Given the description of an element on the screen output the (x, y) to click on. 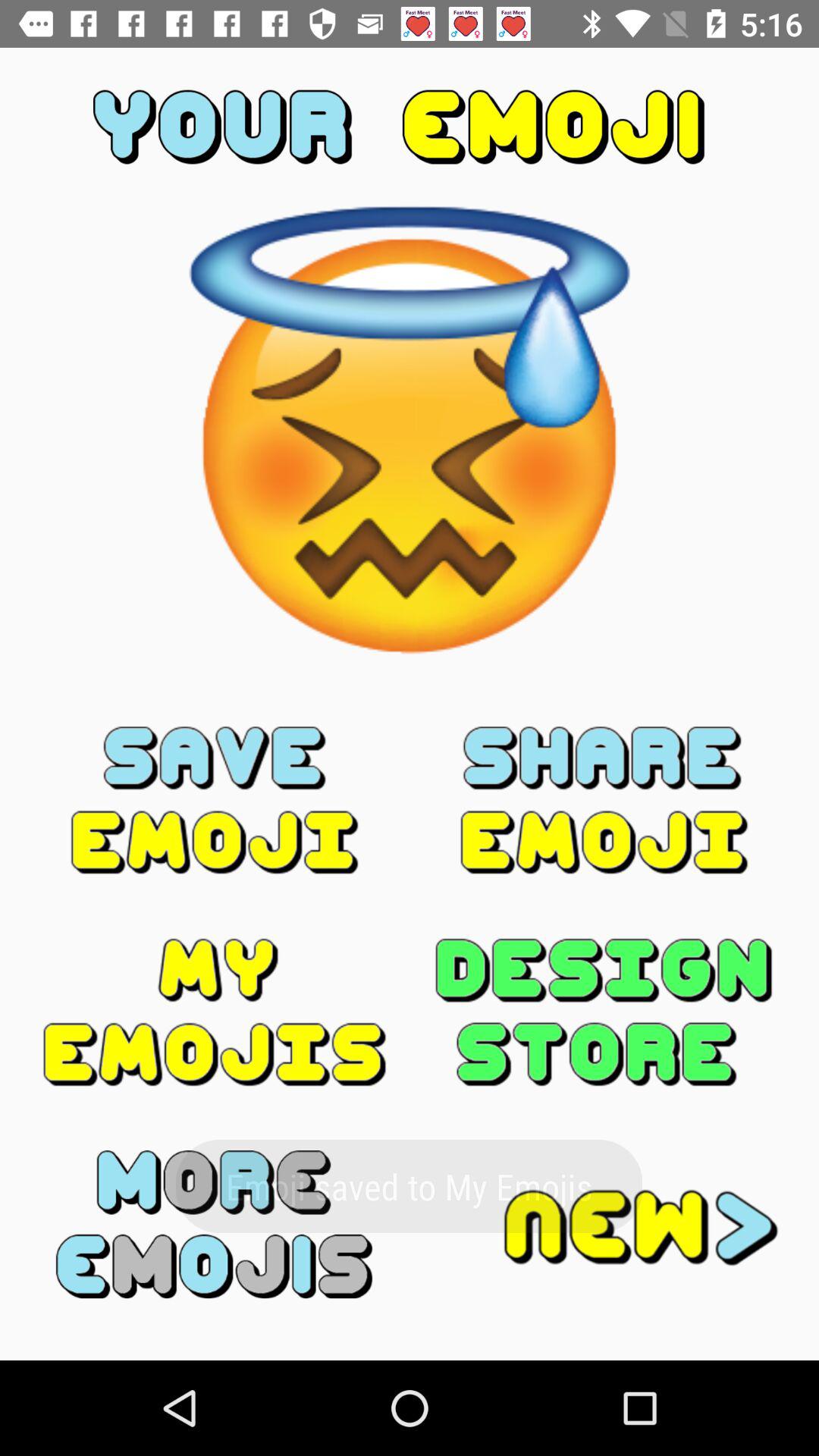
share emoji button (604, 800)
